Given the description of an element on the screen output the (x, y) to click on. 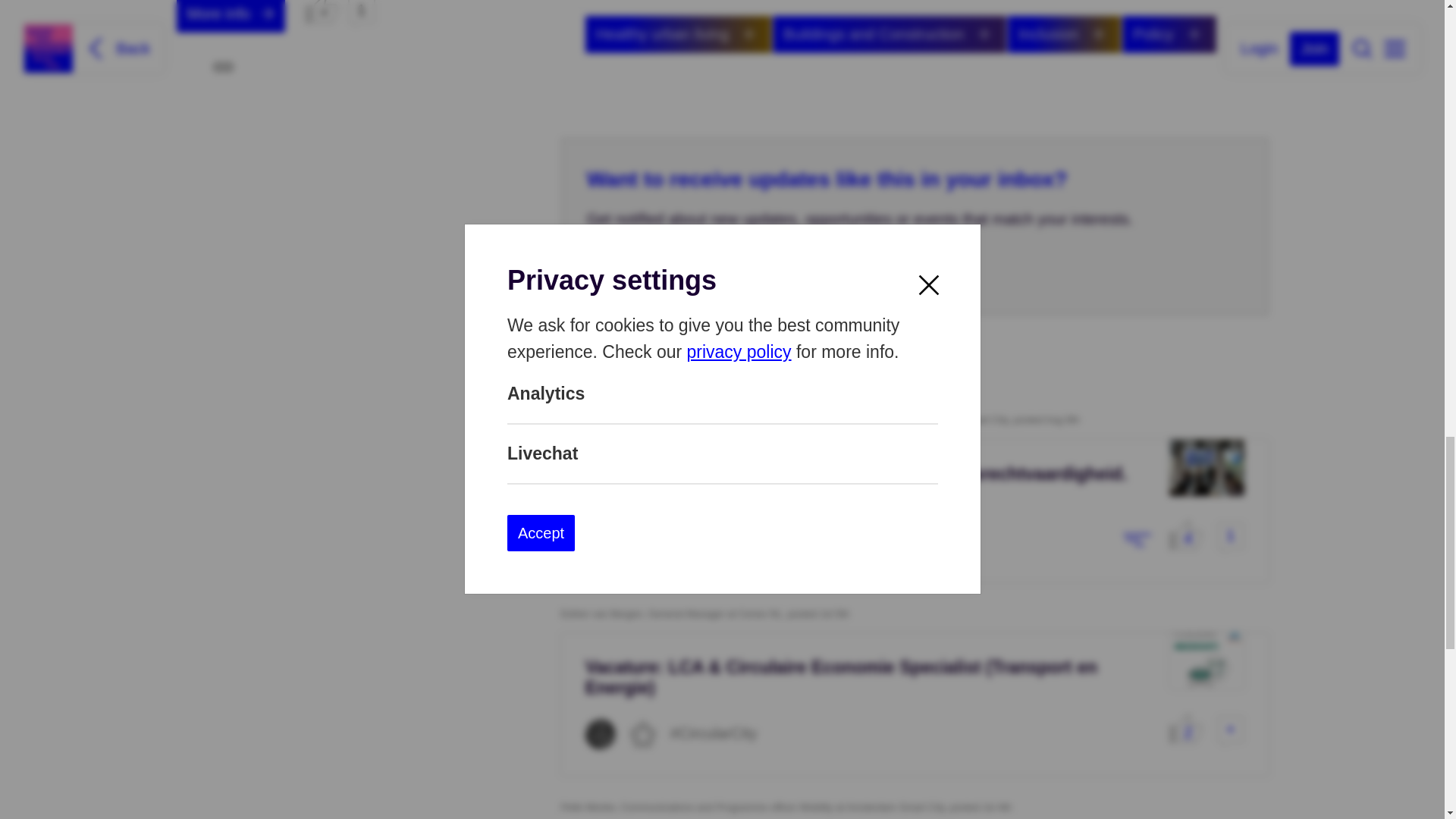
Buildings and Construction (889, 34)
Set up preferences (673, 271)
Healthy urban living (678, 34)
Policy (1168, 34)
Inclusion (1064, 34)
View updates (678, 34)
Follow (749, 33)
